Given the description of an element on the screen output the (x, y) to click on. 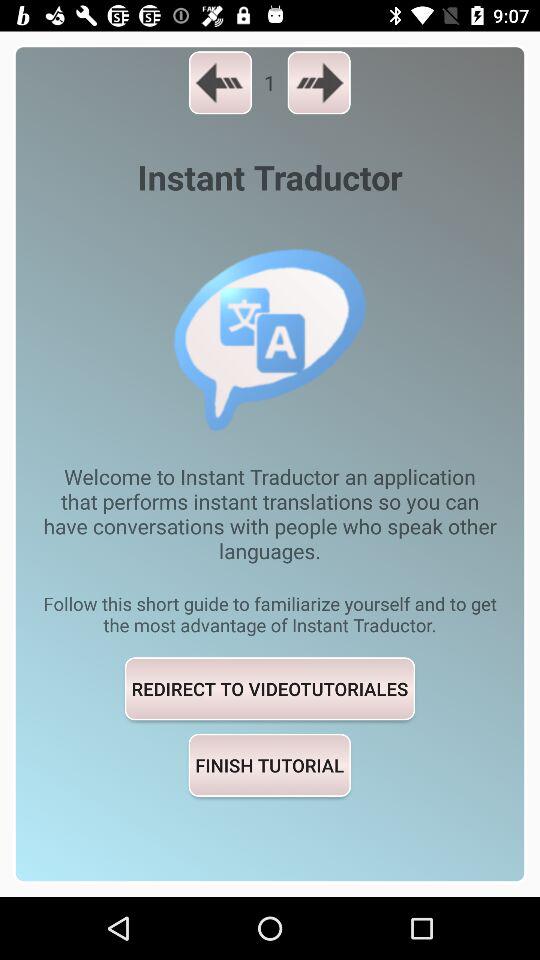
turn off icon above instant traductor item (318, 82)
